Given the description of an element on the screen output the (x, y) to click on. 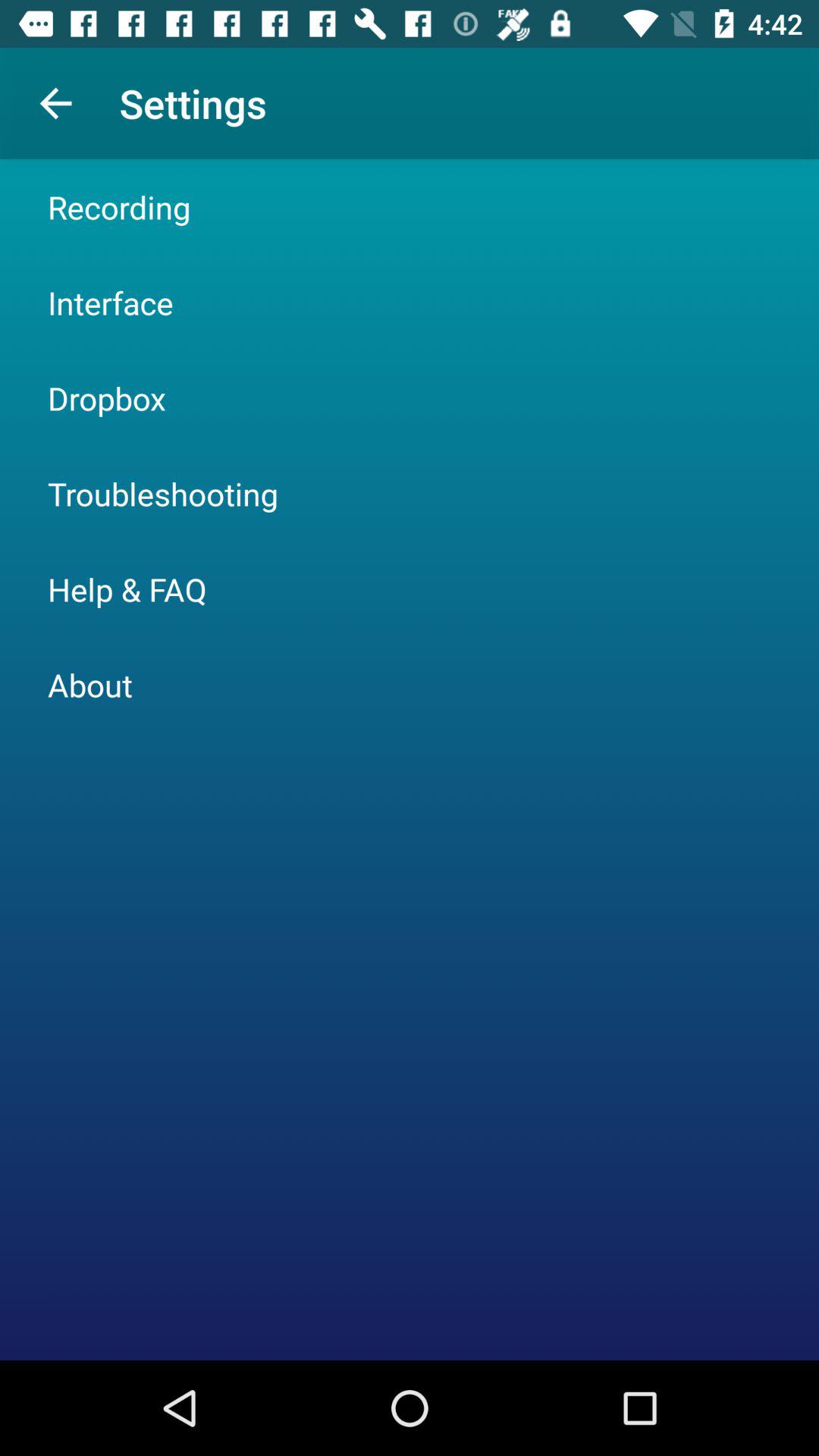
click icon above the recording item (55, 103)
